Given the description of an element on the screen output the (x, y) to click on. 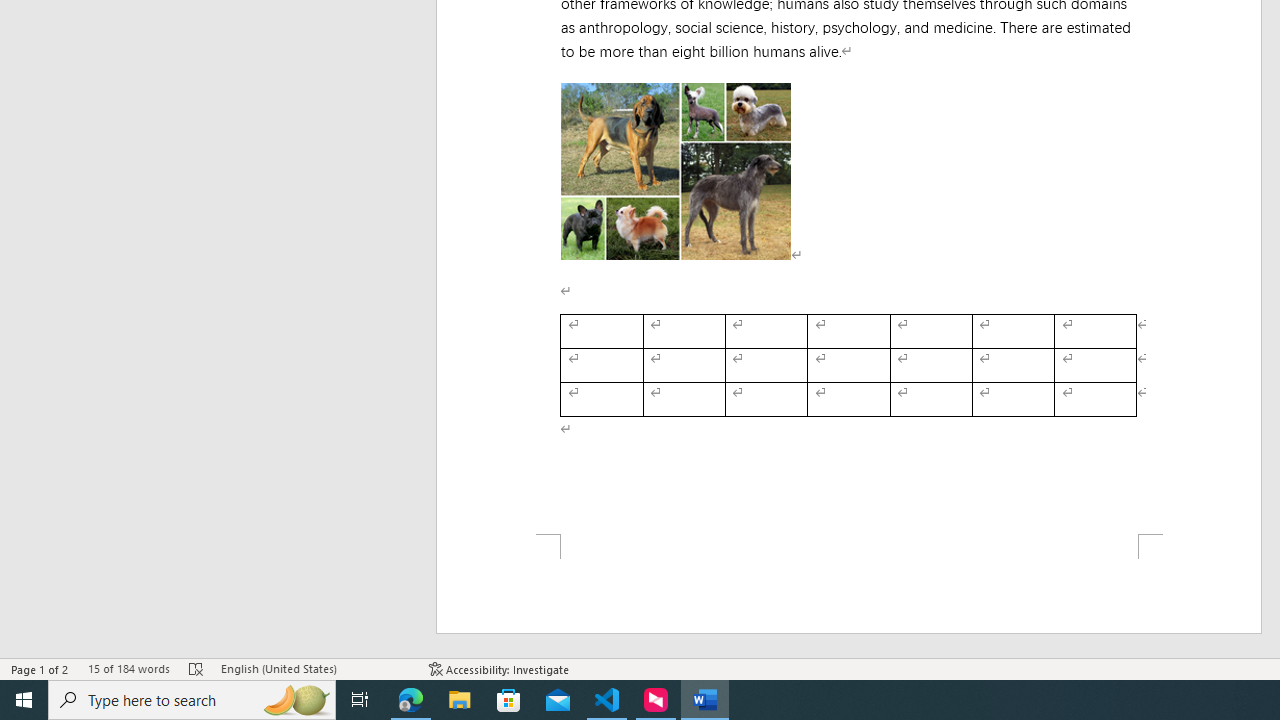
Spelling and Grammar Check Errors (196, 668)
Language English (United States) (315, 668)
Morphological variation in six dogs (675, 170)
Word Count 15 of 184 words (128, 668)
Accessibility Checker Accessibility: Investigate (499, 668)
Page Number Page 1 of 2 (39, 668)
